Given the description of an element on the screen output the (x, y) to click on. 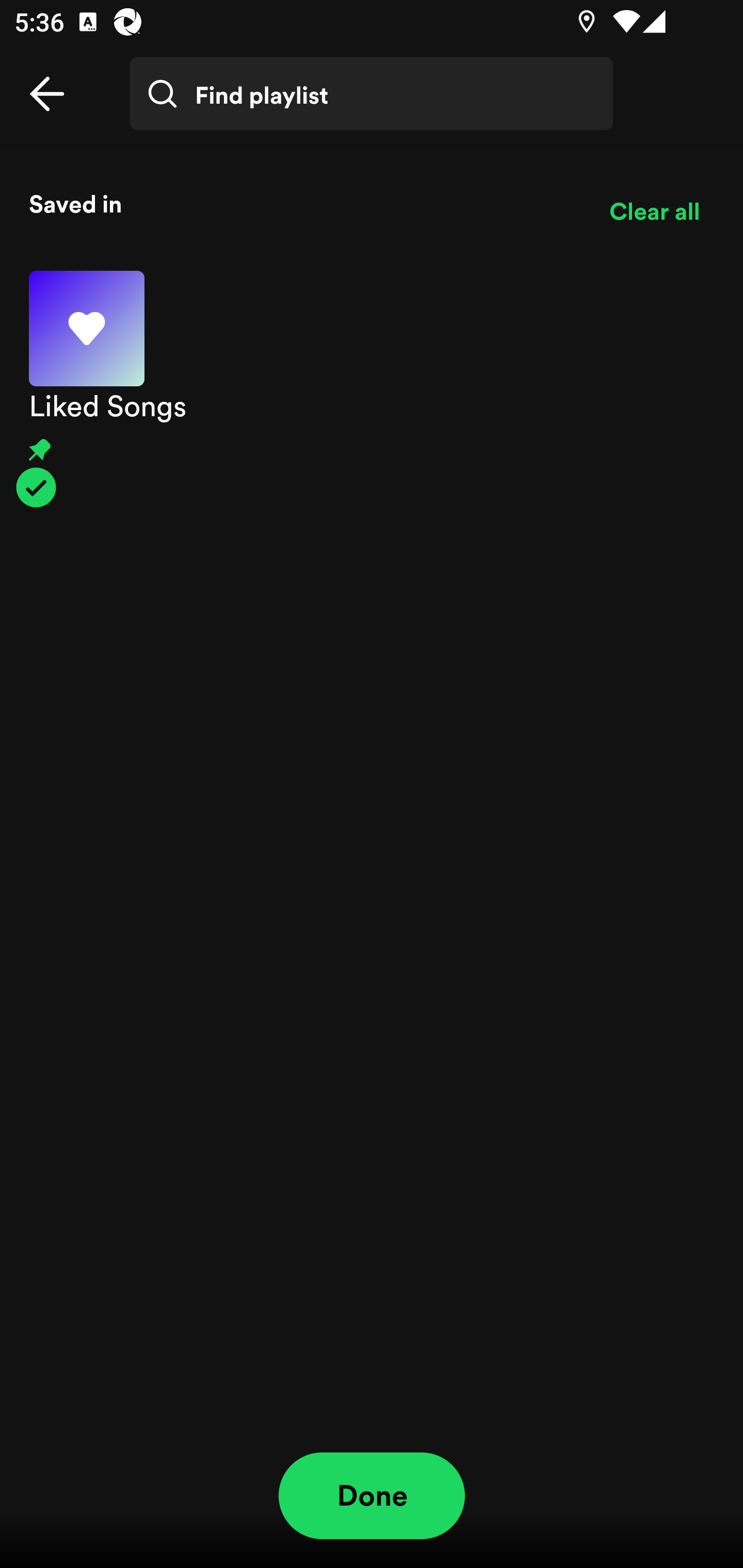
Back (46, 93)
Find playlist (371, 94)
Clear Find playlist (666, 108)
Saved in (304, 203)
Clear all (654, 211)
Liked Songs Pinned (371, 389)
Done (371, 1495)
